Given the description of an element on the screen output the (x, y) to click on. 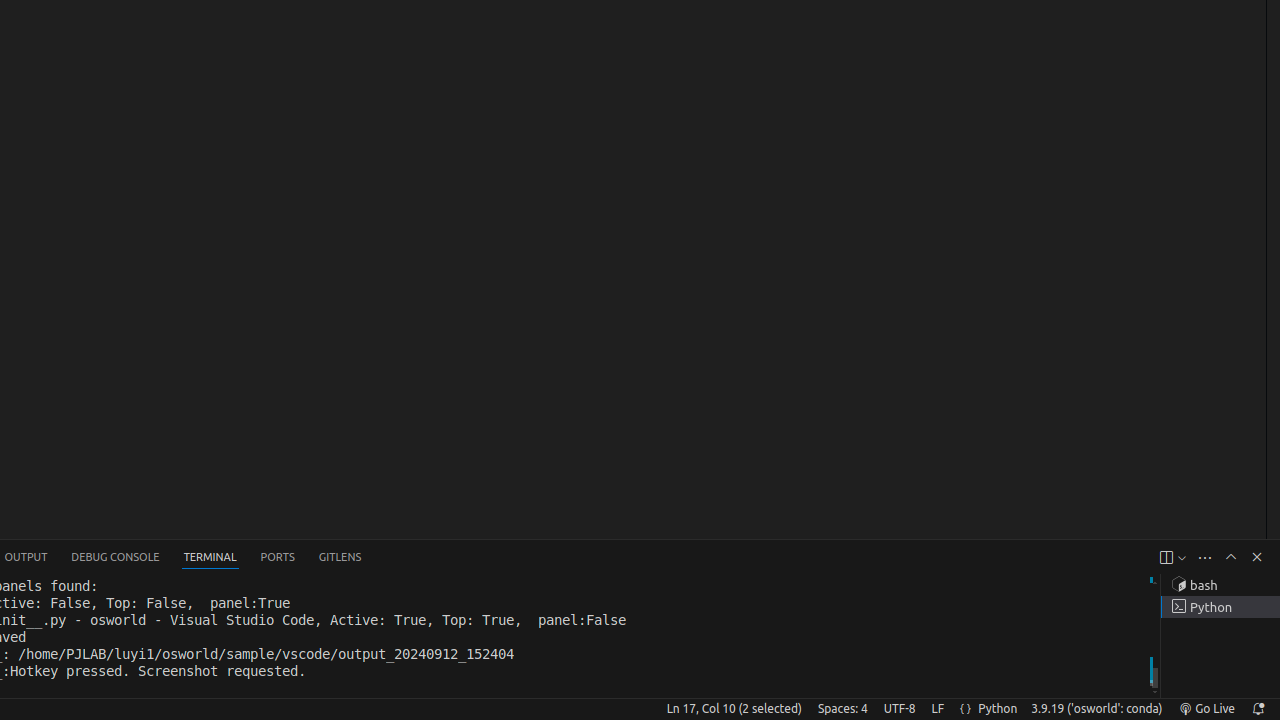
UTF-8 Element type: push-button (899, 709)
Debug Console (Ctrl+Shift+Y) Element type: page-tab (115, 557)
Maximize Panel Size Element type: check-box (1231, 557)
Python Element type: push-button (998, 709)
Ln 17, Col 10 (2 selected) Element type: push-button (734, 709)
